Given the description of an element on the screen output the (x, y) to click on. 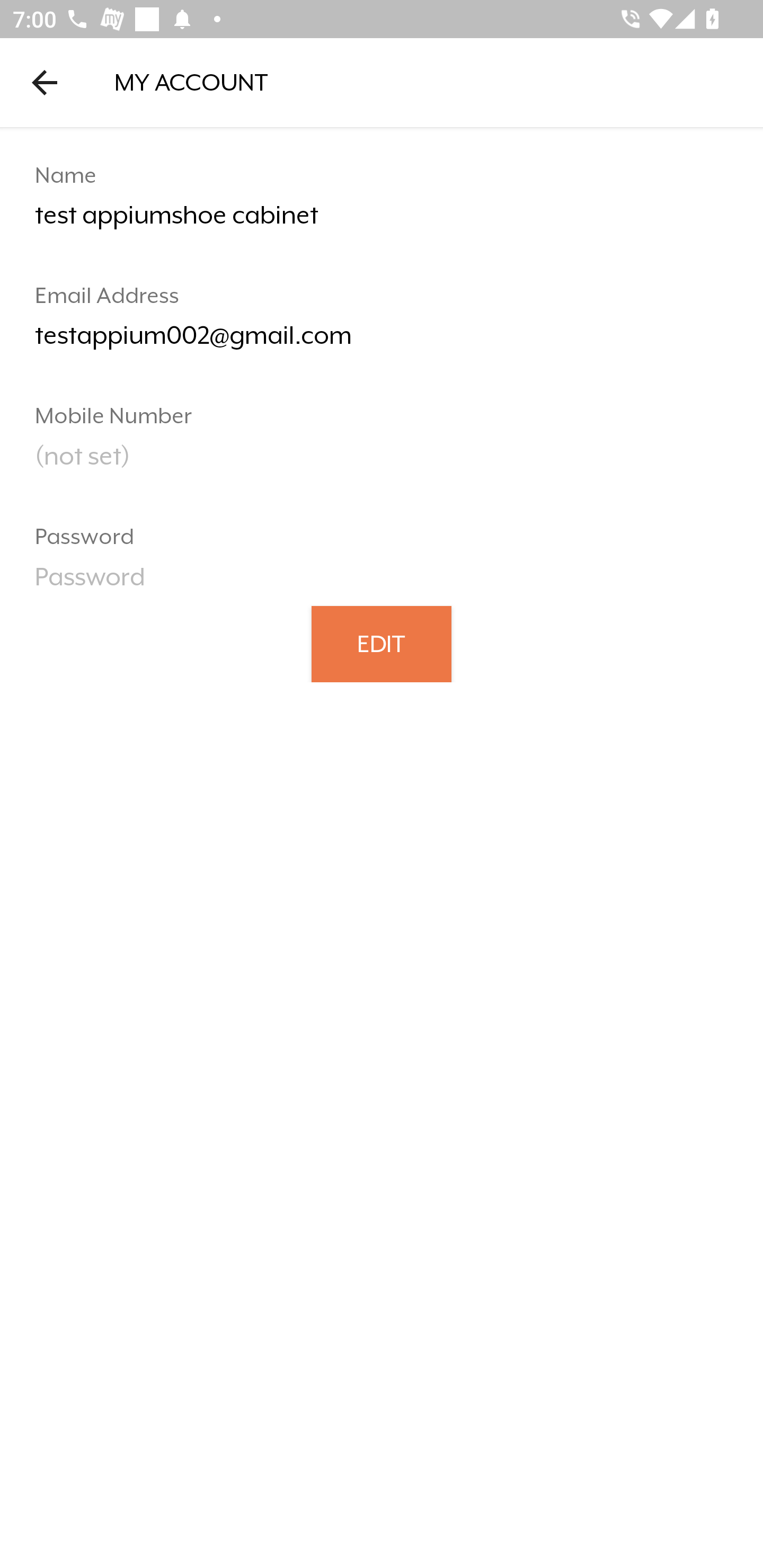
Navigate up (44, 82)
test appiumshoe cabinet (381, 222)
testappium002@gmail.com (381, 342)
Password (381, 583)
EDIT (381, 643)
